Given the description of an element on the screen output the (x, y) to click on. 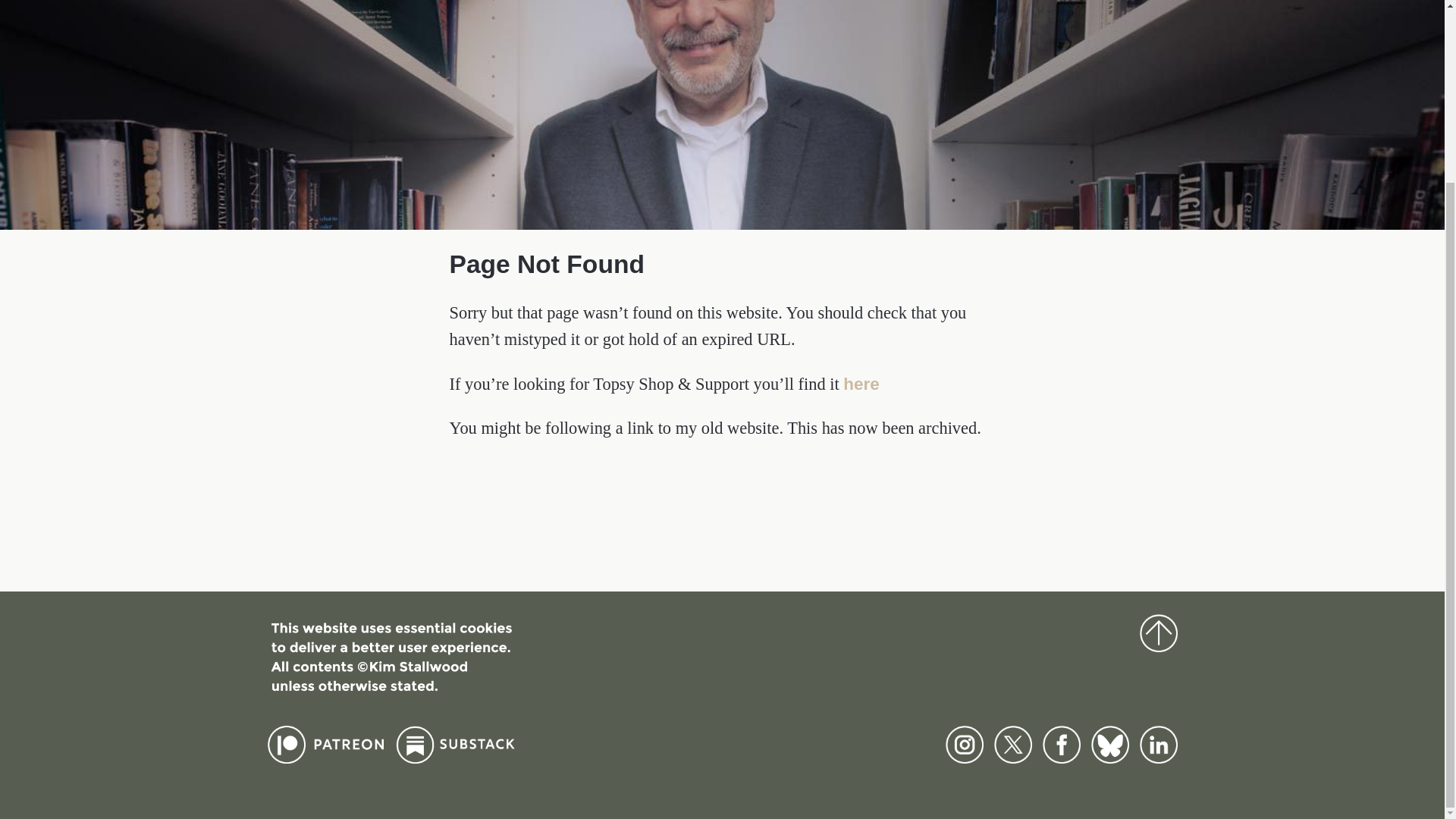
Patreon (325, 758)
Bluesky (1109, 758)
Instagram (963, 758)
Substack (456, 758)
Twitter (1011, 758)
LinkedIn (1157, 758)
here (861, 383)
Facebook (1061, 758)
